Given the description of an element on the screen output the (x, y) to click on. 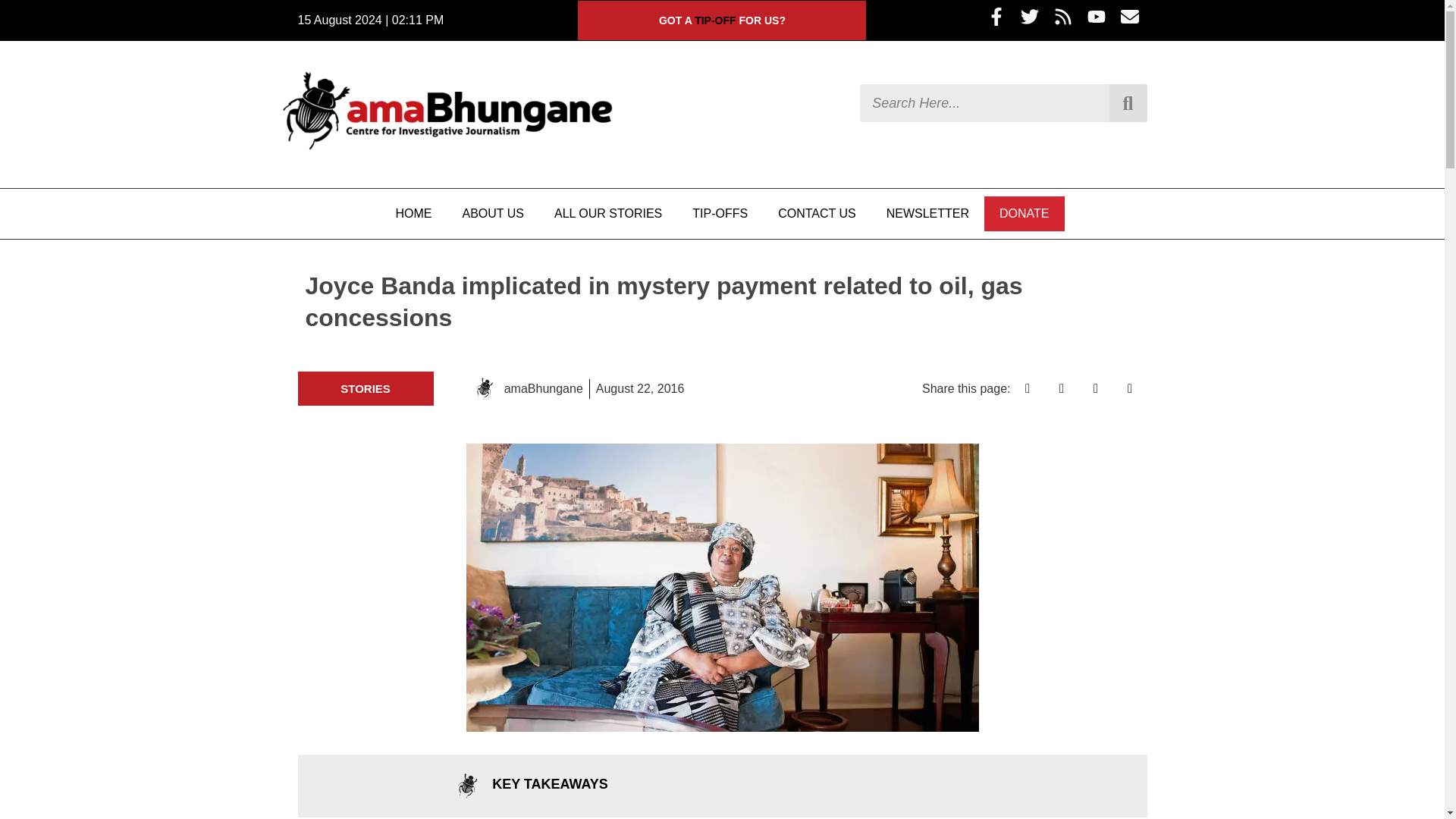
GOT A TIP-OFF FOR US? (722, 20)
ALL OUR STORIES (607, 213)
HOME (413, 213)
ABOUT US (492, 213)
